Given the description of an element on the screen output the (x, y) to click on. 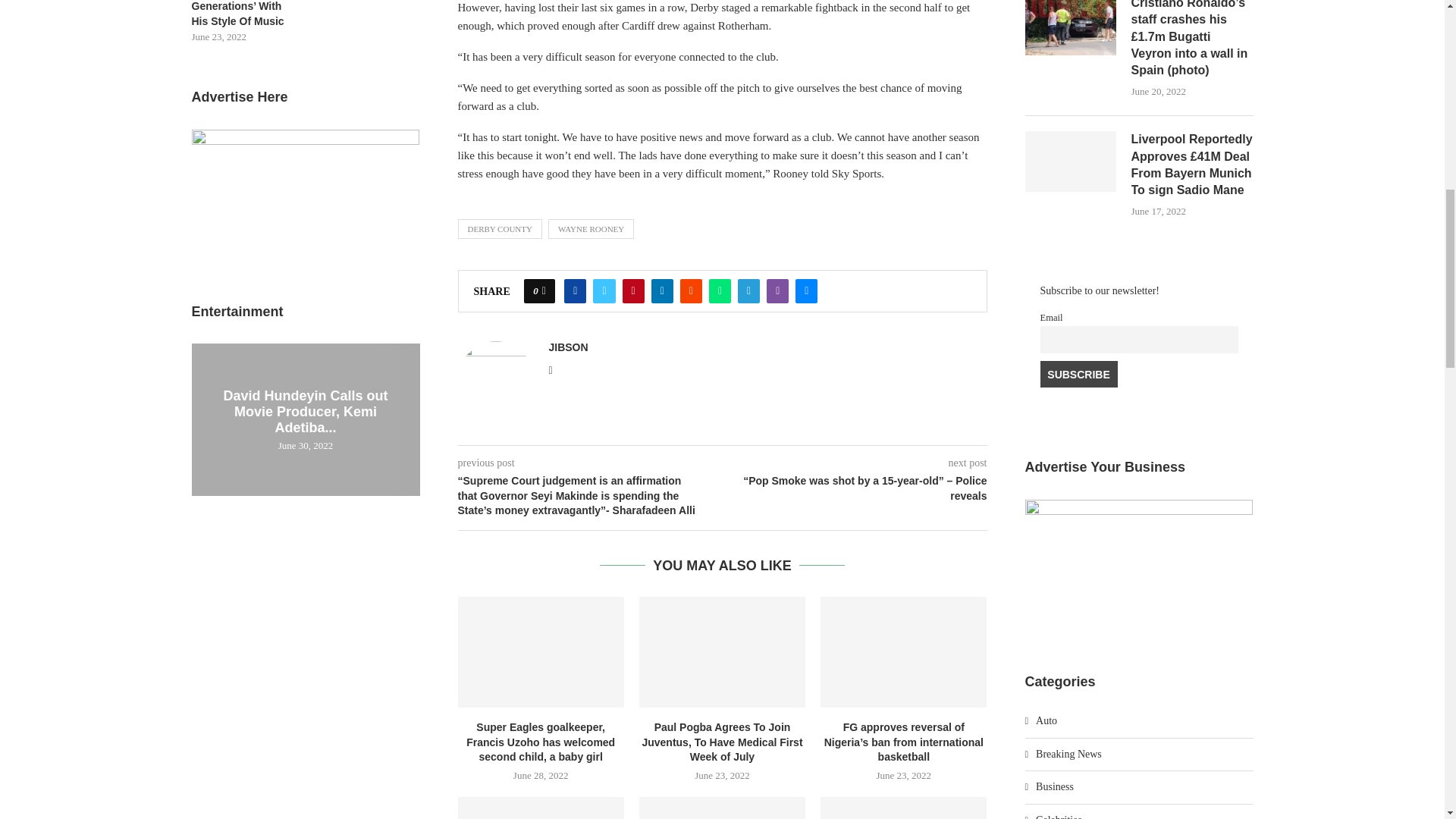
Author Jibson (568, 346)
Ex-Nigerian player Found Dead in Italy (904, 807)
Subscribe (1079, 374)
